Given the description of an element on the screen output the (x, y) to click on. 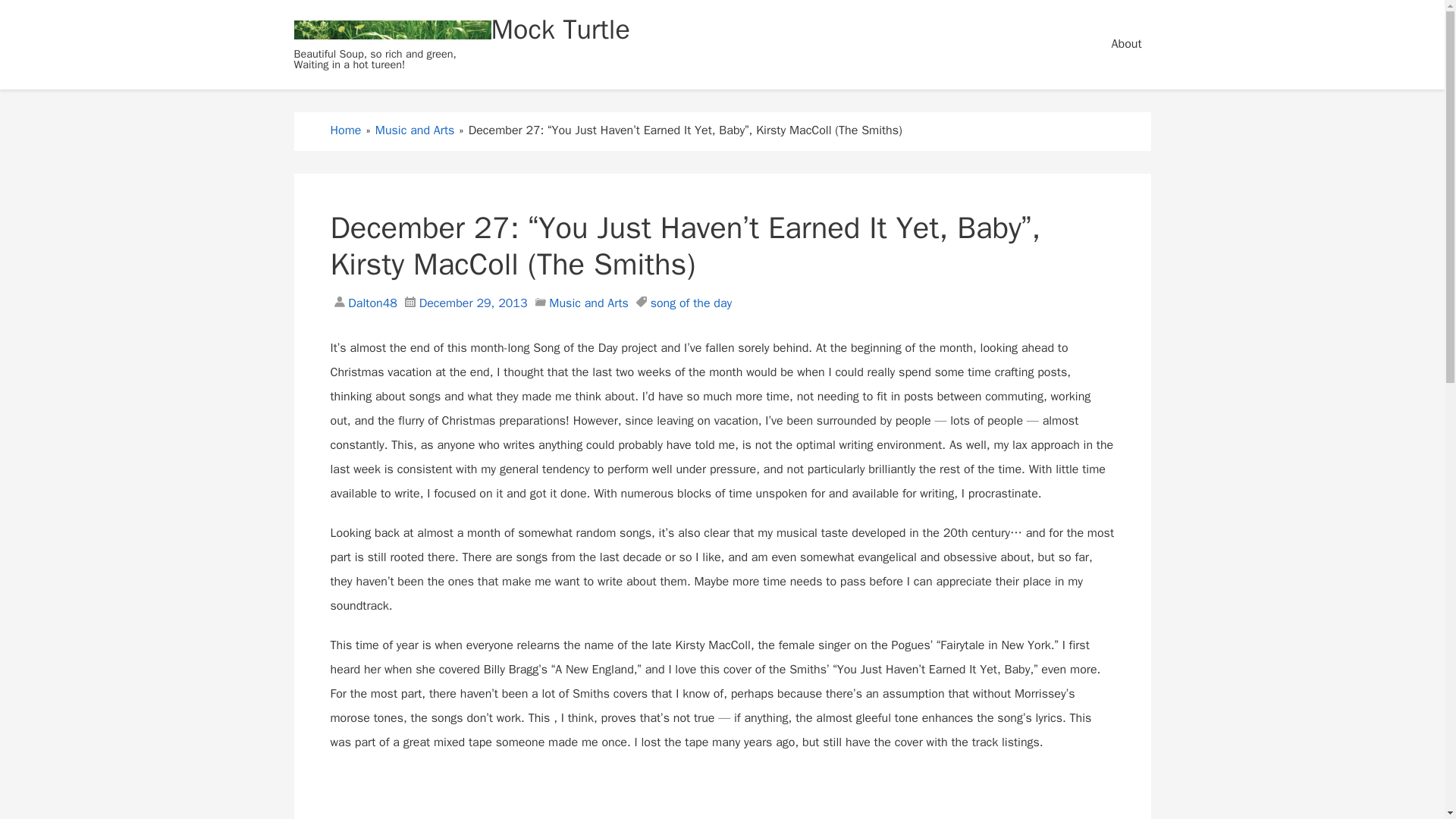
About (1126, 44)
Home (345, 130)
Mock Turtle (393, 29)
song of the day (691, 303)
Home Page (393, 29)
Music and Arts (414, 130)
Music and Arts (588, 303)
Dalton48 (369, 303)
